Given the description of an element on the screen output the (x, y) to click on. 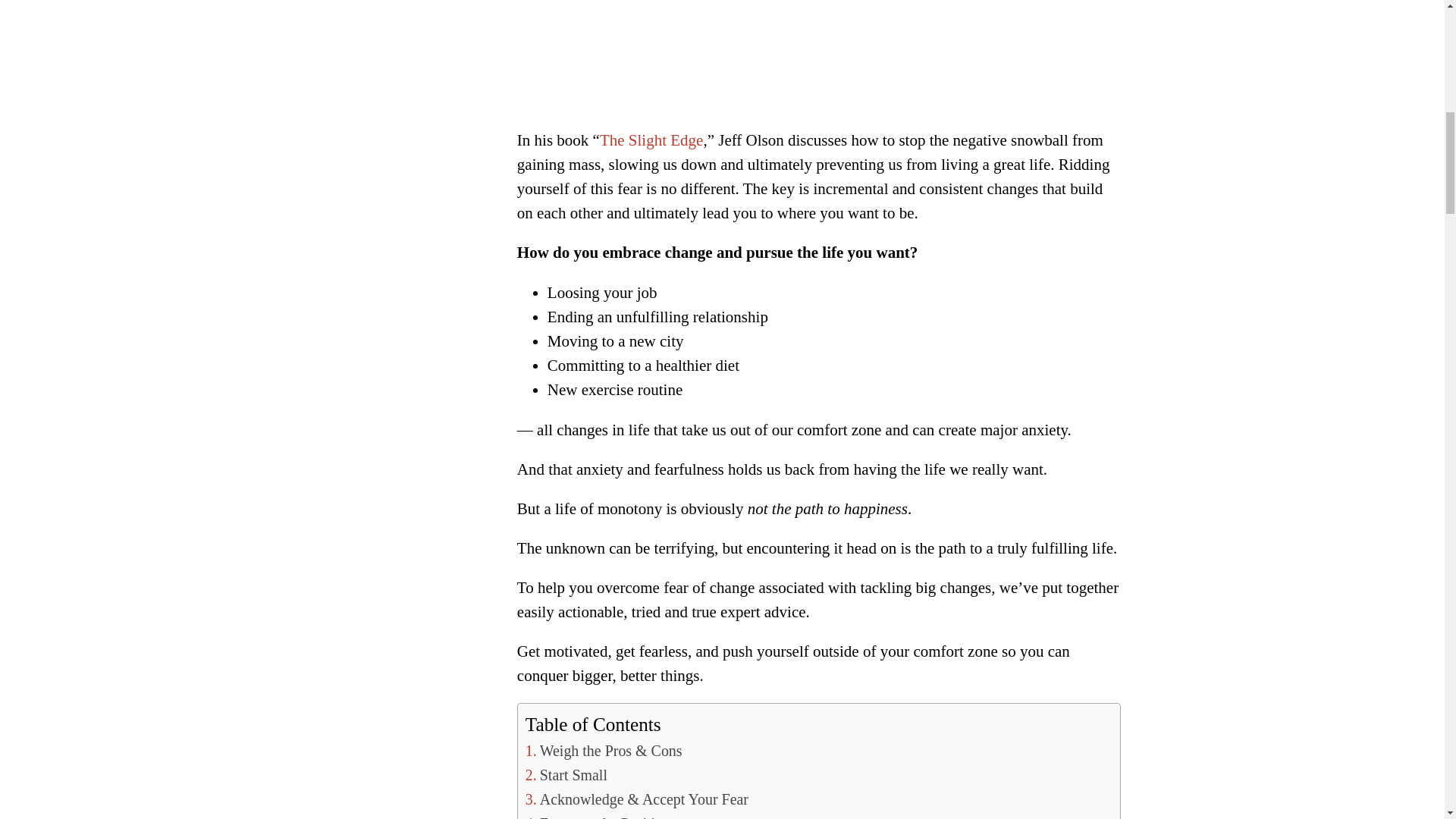
overcome-fear-of-change-1 (818, 48)
Focus on the Positive (597, 815)
Focus on the Positive (597, 815)
Start Small (566, 775)
Start Small (566, 775)
The Slight Edge (651, 140)
